Given the description of an element on the screen output the (x, y) to click on. 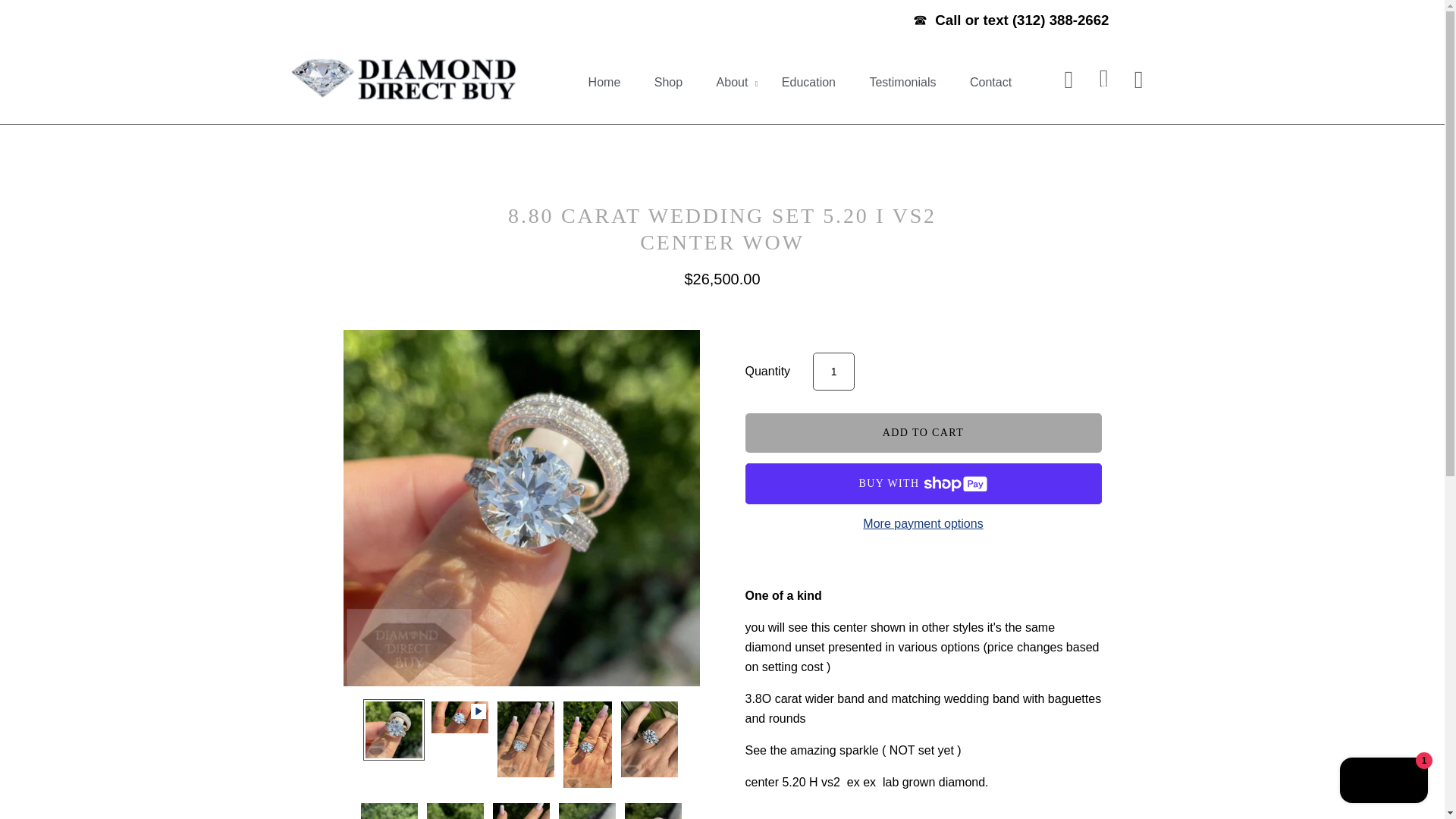
1 (833, 371)
More payment options (922, 523)
Contact (990, 82)
Shop (668, 82)
Shopify online store chat (1383, 781)
Home (604, 82)
About (731, 82)
Education (808, 82)
8.80 CARAT WEDDING SET 5.20 I VS2 CENTER WOW (722, 228)
Add to cart (922, 432)
Testimonials (901, 82)
Add to cart (922, 432)
